Given the description of an element on the screen output the (x, y) to click on. 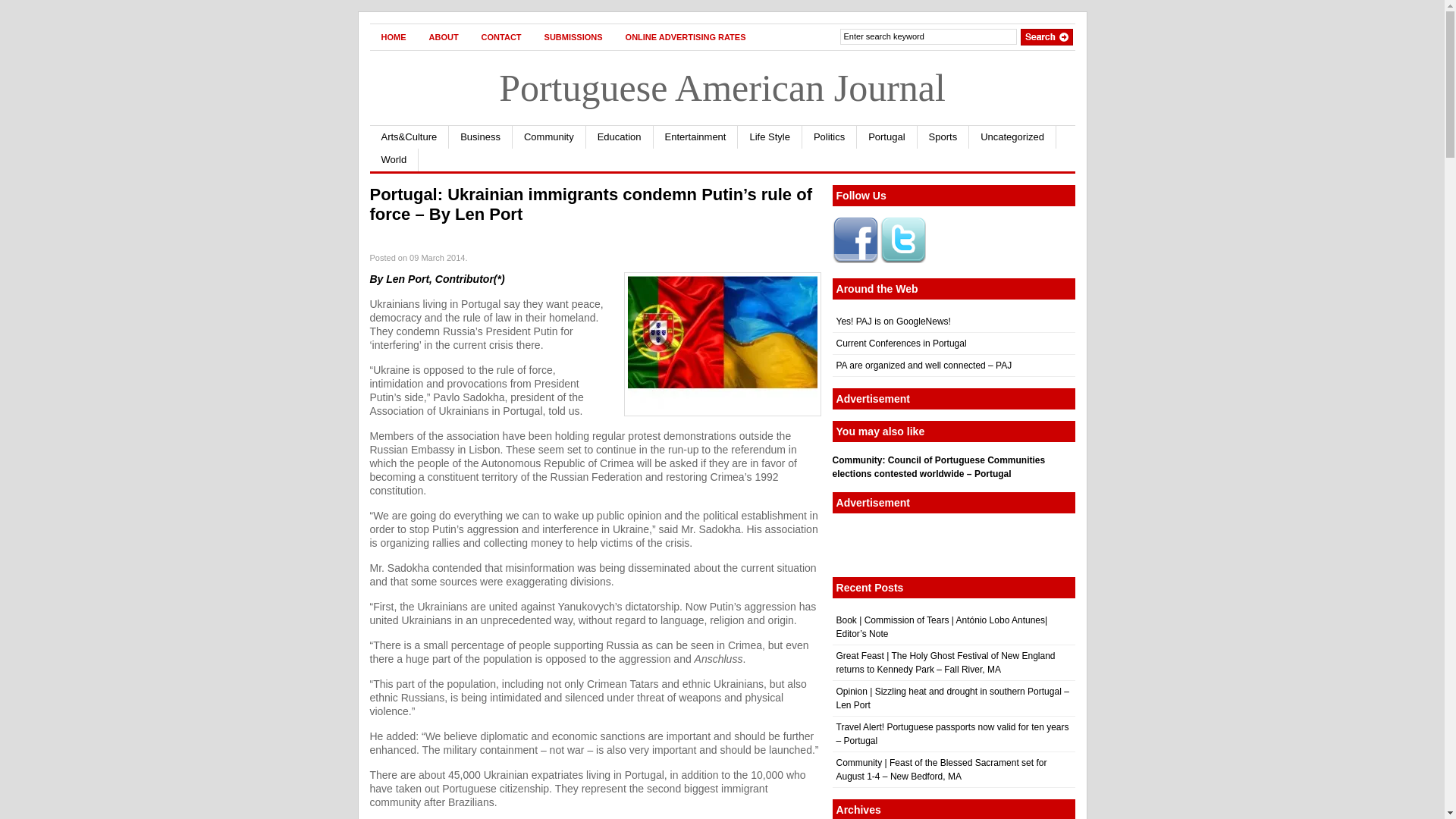
Enter search keyword (928, 36)
Portuguese American Journal (721, 87)
Business (480, 137)
ONLINE ADVERTISING RATES (685, 36)
Go (1046, 36)
CONTACT (501, 36)
ABOUT (442, 36)
Life Style (770, 137)
Portugal (887, 137)
Politics (829, 137)
